Given the description of an element on the screen output the (x, y) to click on. 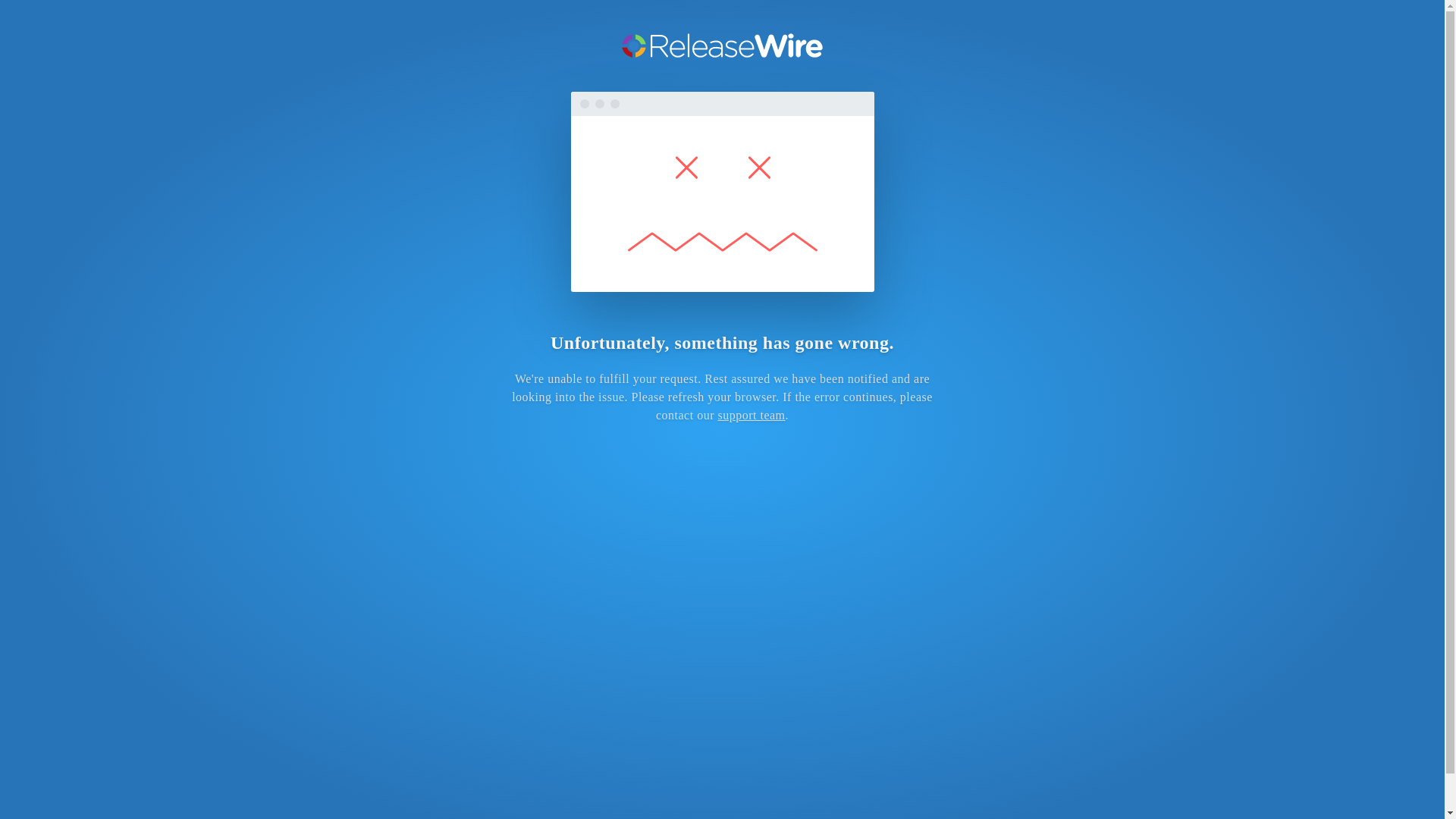
support team (750, 414)
